Given the description of an element on the screen output the (x, y) to click on. 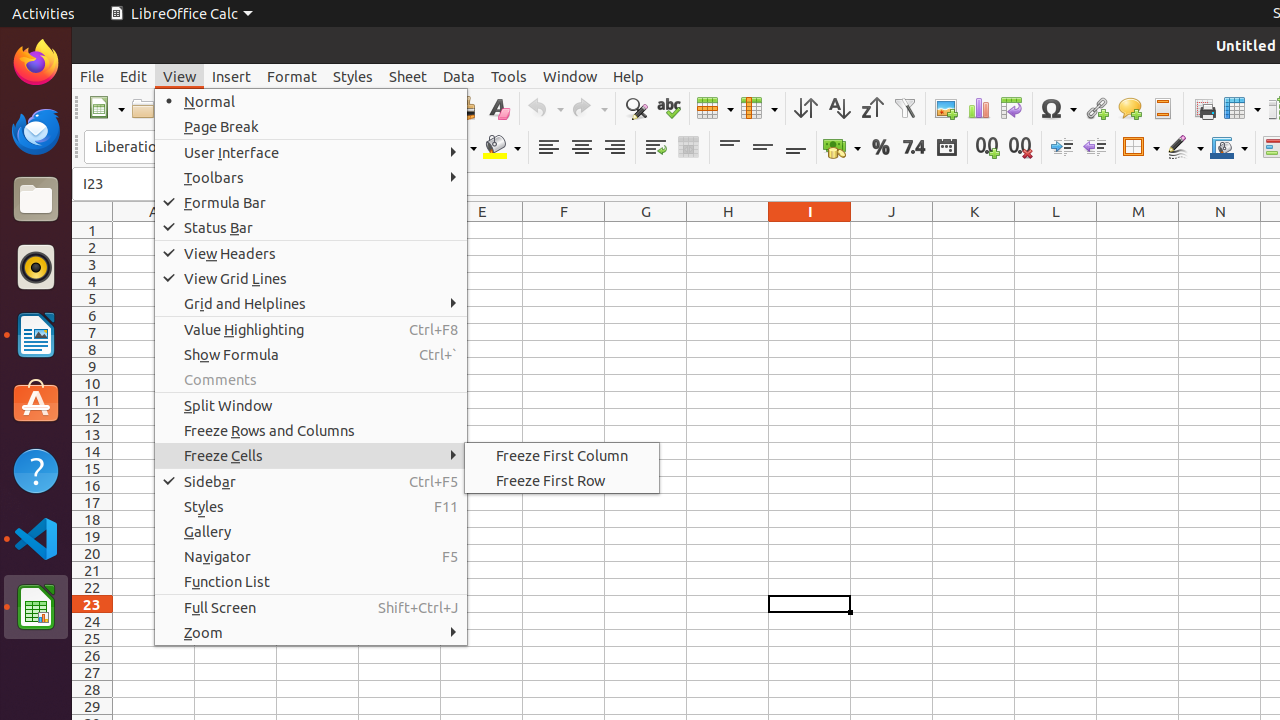
Freeze Cells Element type: menu (311, 455)
Sort Ascending Element type: push-button (838, 108)
Gallery Element type: menu-item (311, 531)
J1 Element type: table-cell (892, 230)
